Given the description of an element on the screen output the (x, y) to click on. 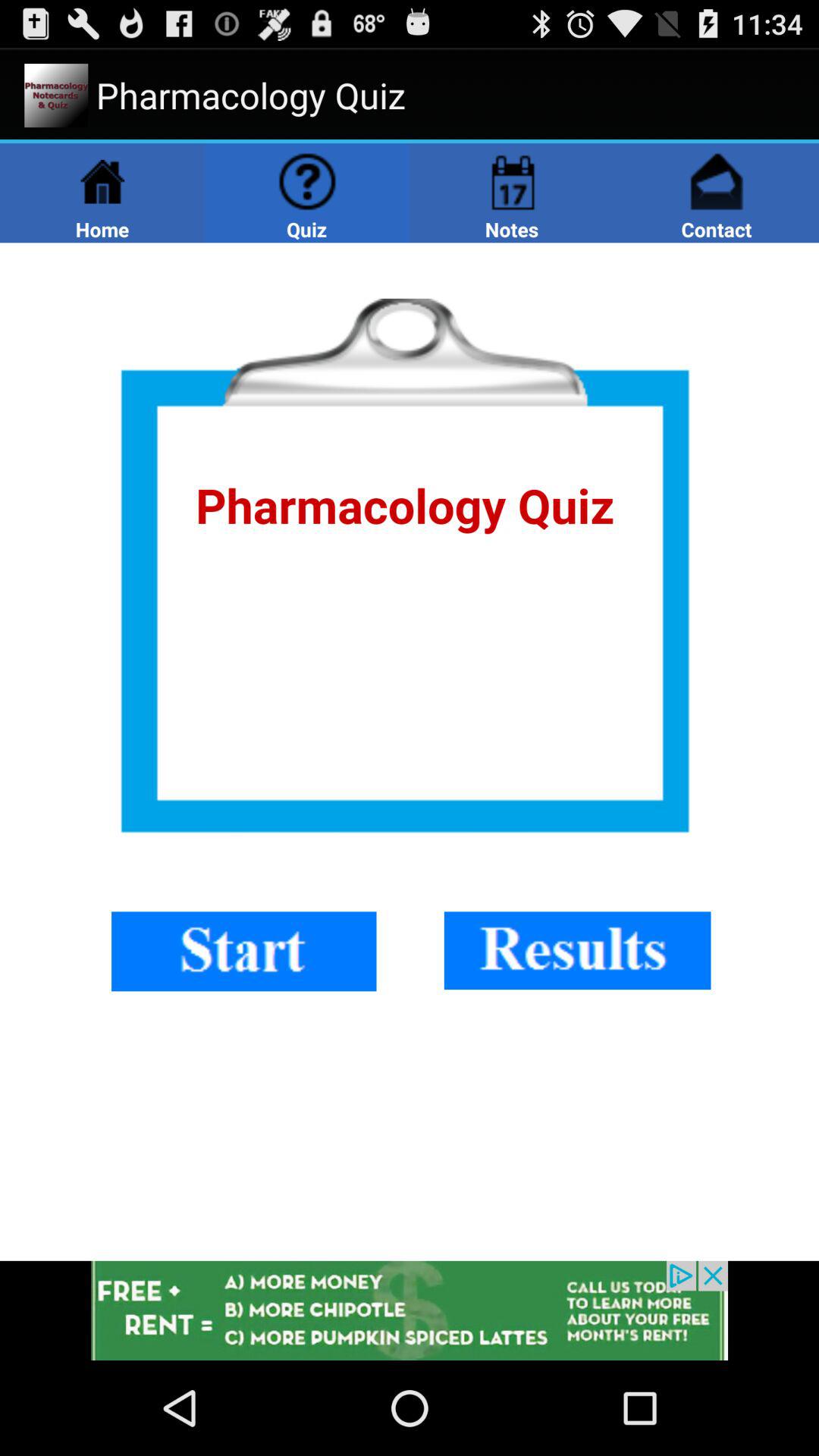
open advertisement (409, 1310)
